Given the description of an element on the screen output the (x, y) to click on. 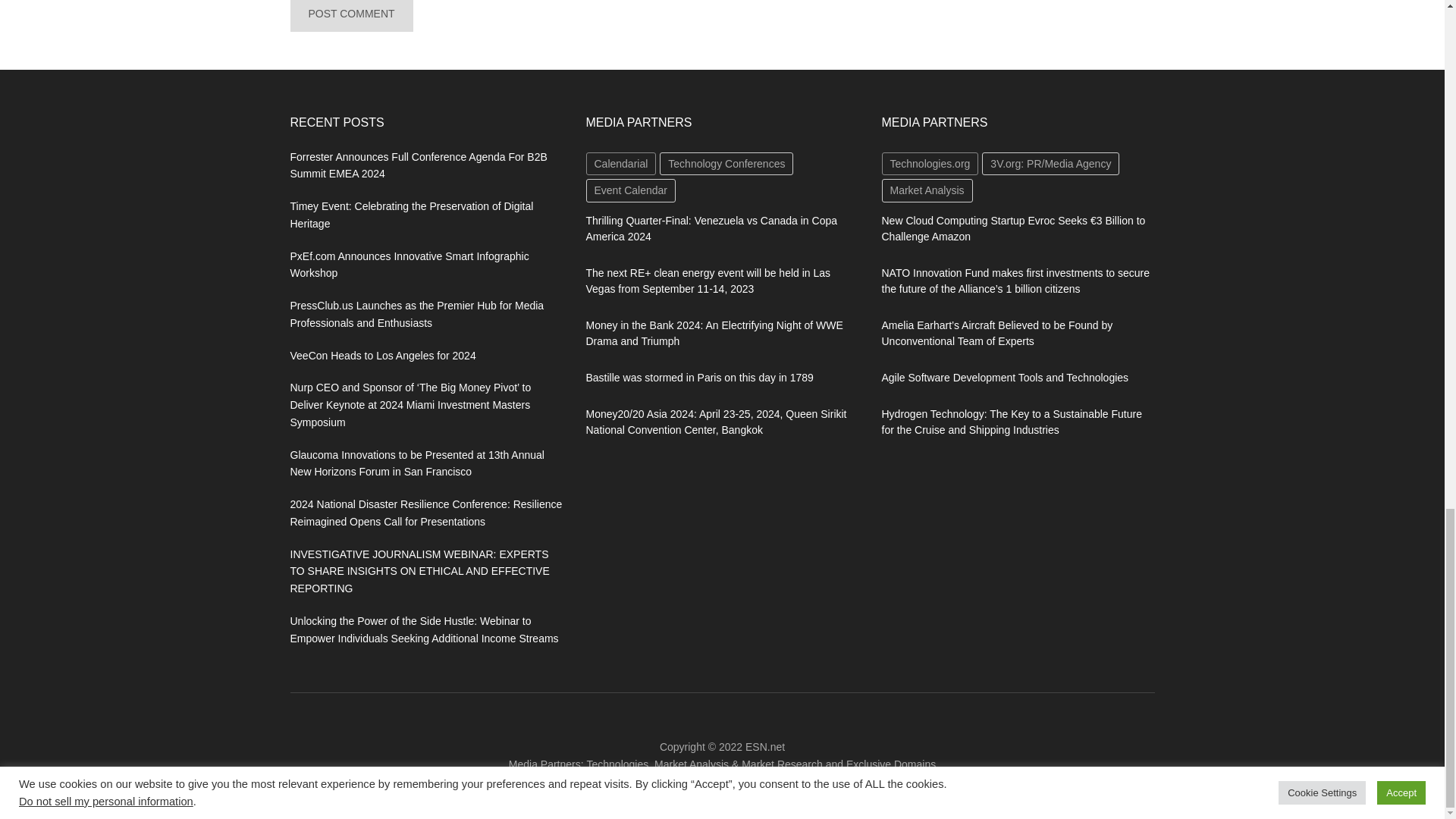
Post Comment (350, 15)
PxEf.com Announces Innovative Smart Infographic Workshop (408, 265)
VeeCon Heads to Los Angeles for 2024 (382, 355)
Post Comment (350, 15)
Bastille was stormed in Paris on this day in 1789 (698, 377)
